Given the description of an element on the screen output the (x, y) to click on. 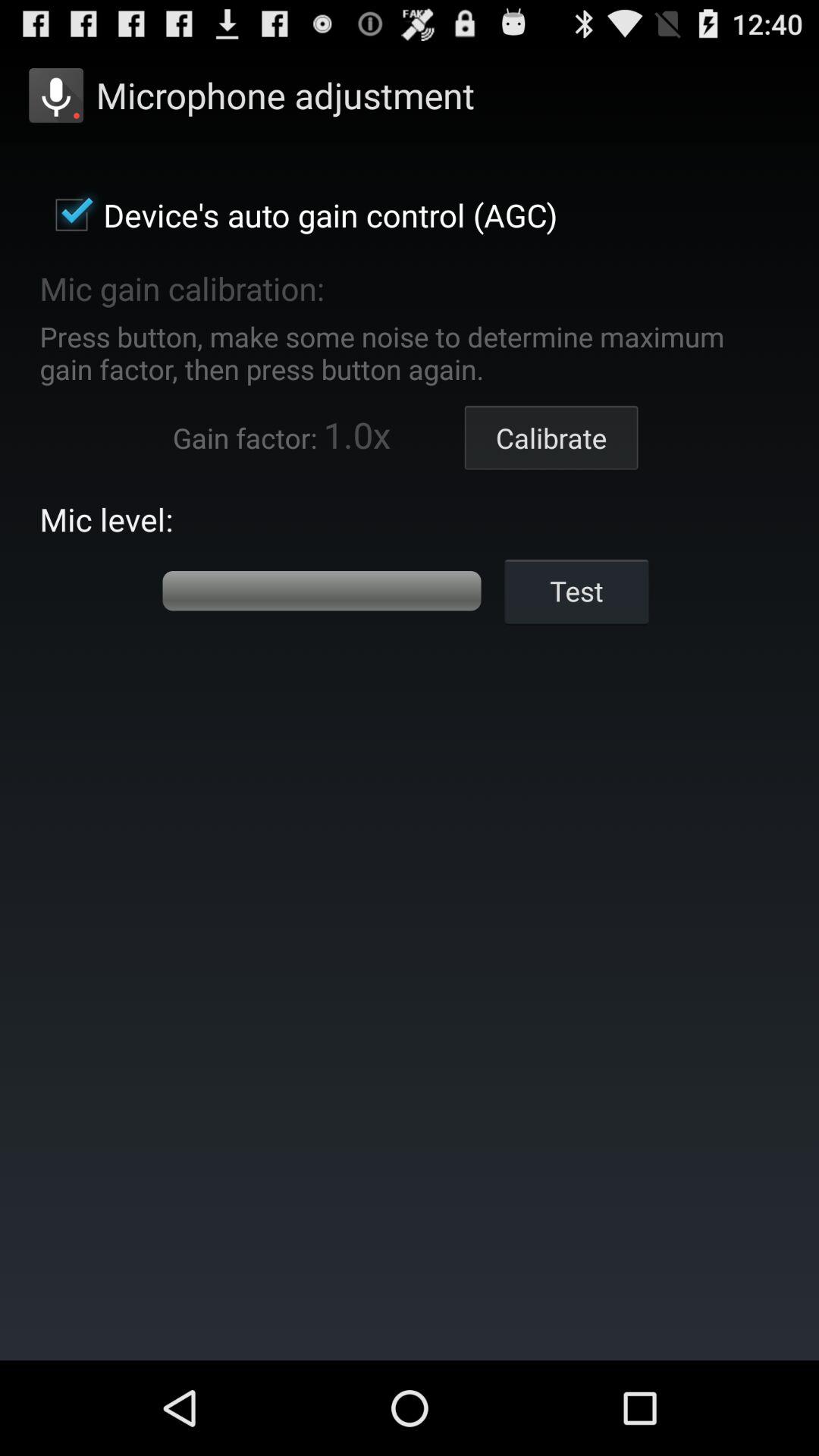
turn on app next to the 1.0x item (551, 437)
